Given the description of an element on the screen output the (x, y) to click on. 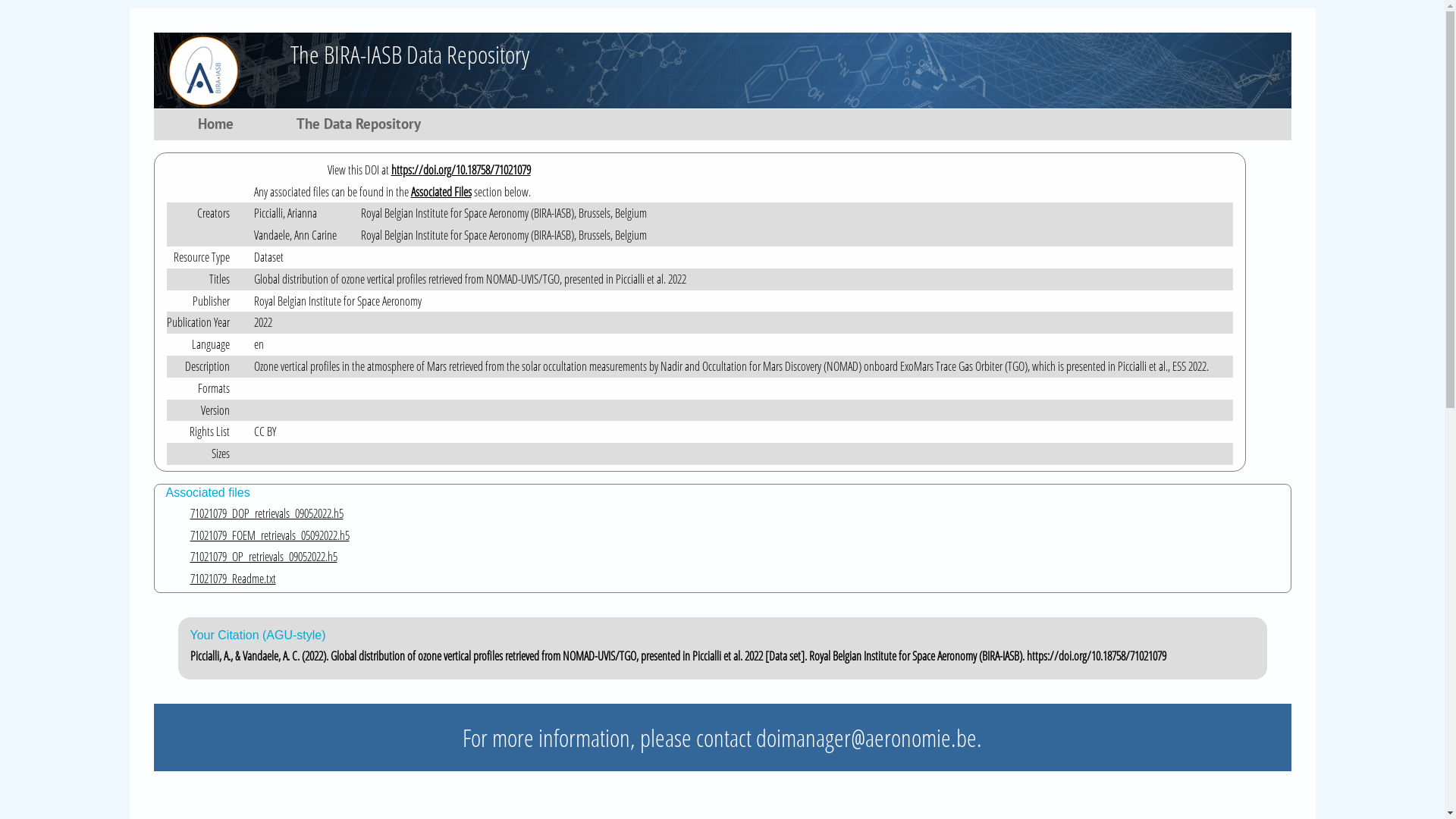
71021079_DOP_retrievals_09052022.h5 Element type: text (733, 513)
71021079_OP_retrievals_09052022.h5 Element type: text (733, 556)
https://doi.org/10.18758/71021079 Element type: text (460, 169)
71021079_FOEM_retrievals_05092022.h5 Element type: text (733, 535)
71021079_Readme.txt Element type: text (733, 578)
The Data Repository Element type: text (360, 127)
Associated Files Element type: text (441, 191)
Home Element type: text (217, 127)
